Given the description of an element on the screen output the (x, y) to click on. 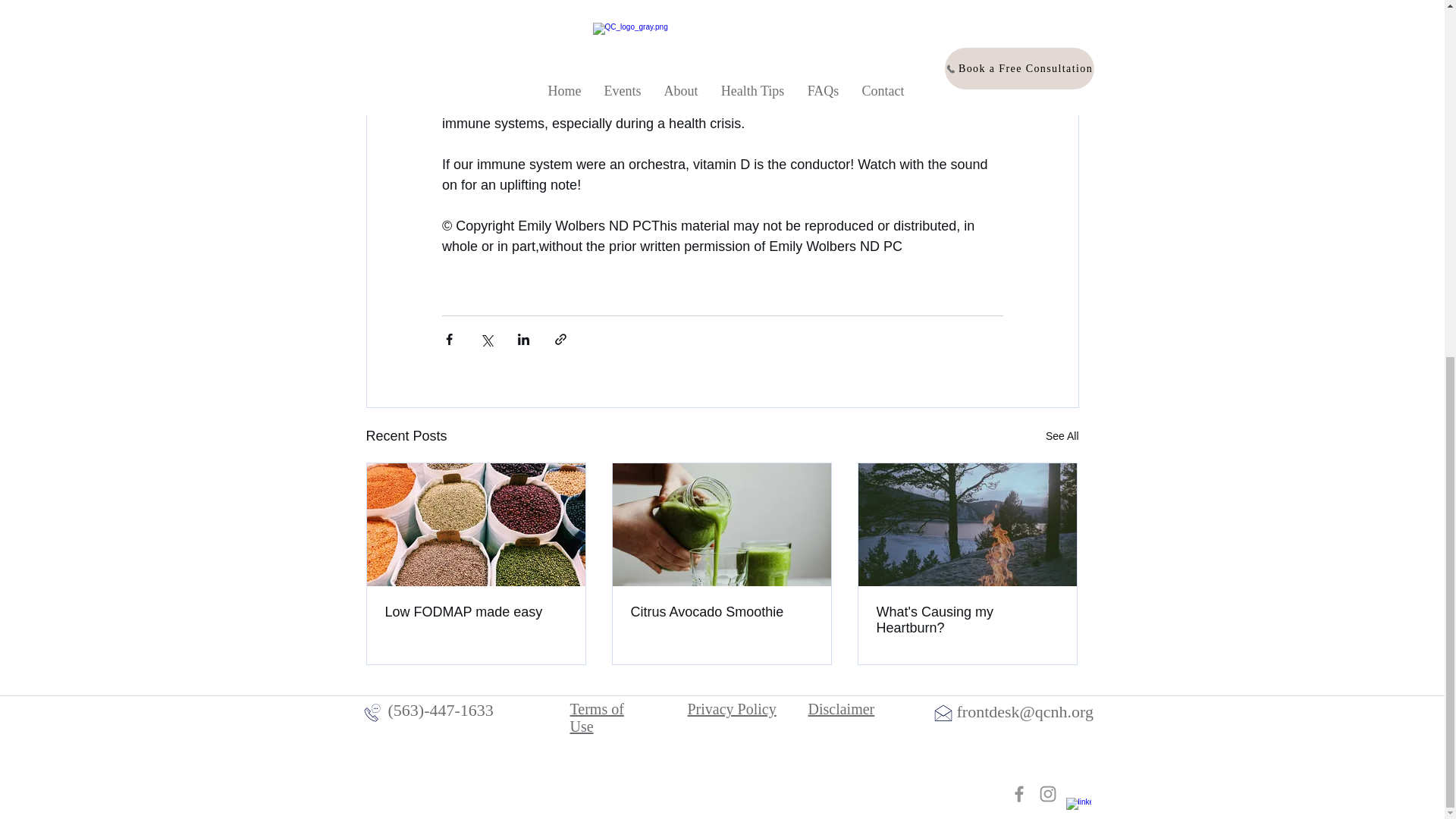
Privacy Policy (731, 709)
See All (1061, 436)
Citrus Avocado Smoothie (721, 611)
Disclaimer (841, 709)
What's Causing my Heartburn? (967, 620)
Low FODMAP made easy (476, 611)
Terms of Use (597, 717)
